Given the description of an element on the screen output the (x, y) to click on. 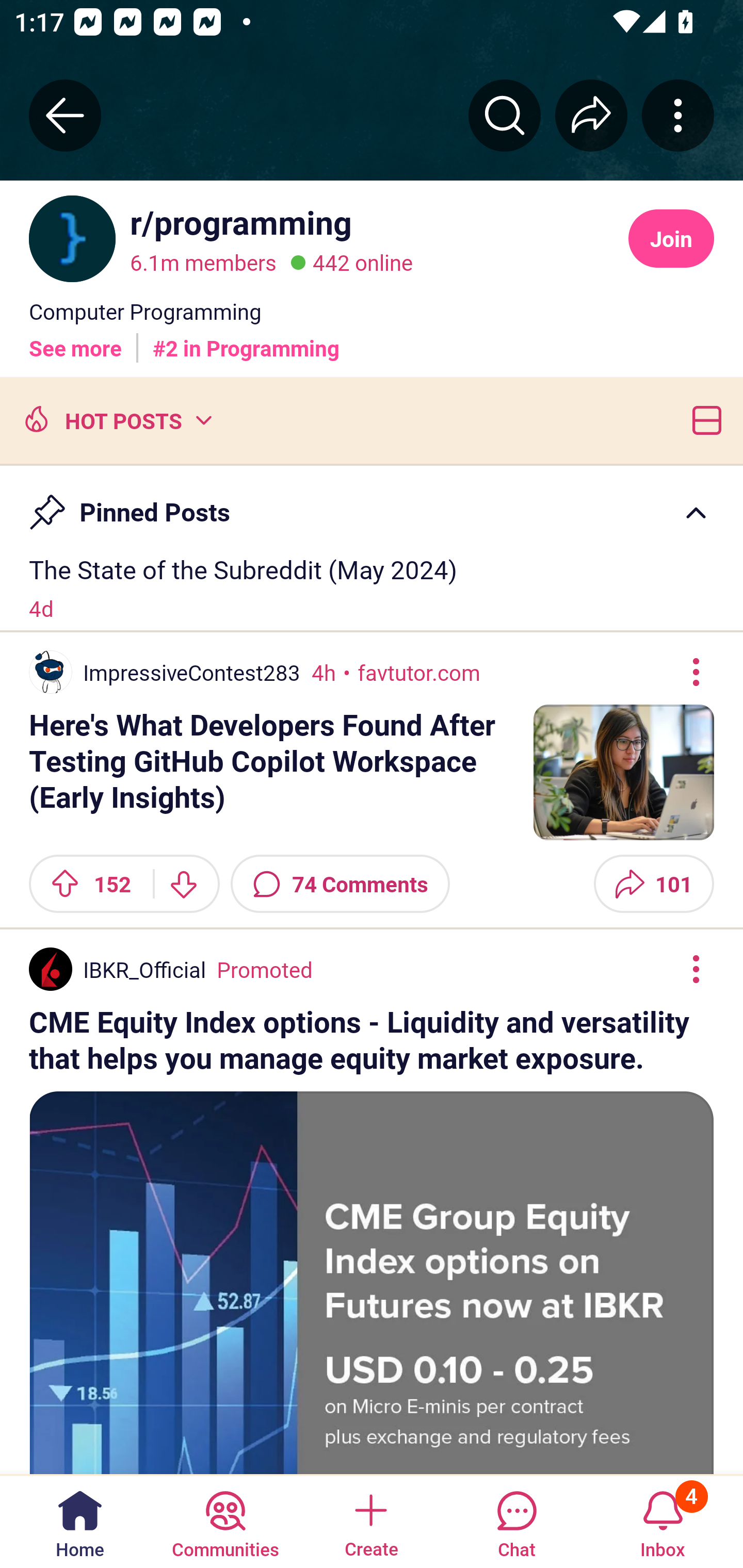
Back (64, 115)
Search r/﻿programming (504, 115)
Share r/﻿programming (591, 115)
More community actions (677, 115)
Hot posts HOT POSTS (116, 419)
Card (703, 419)
Pin Pinned Posts Caret (371, 503)
The State of the Subreddit (May 2024) 4d (371, 587)
Home (80, 1520)
Communities (225, 1520)
Create a post Create (370, 1520)
Chat (516, 1520)
Inbox, has 4 notifications 4 Inbox (662, 1520)
